Given the description of an element on the screen output the (x, y) to click on. 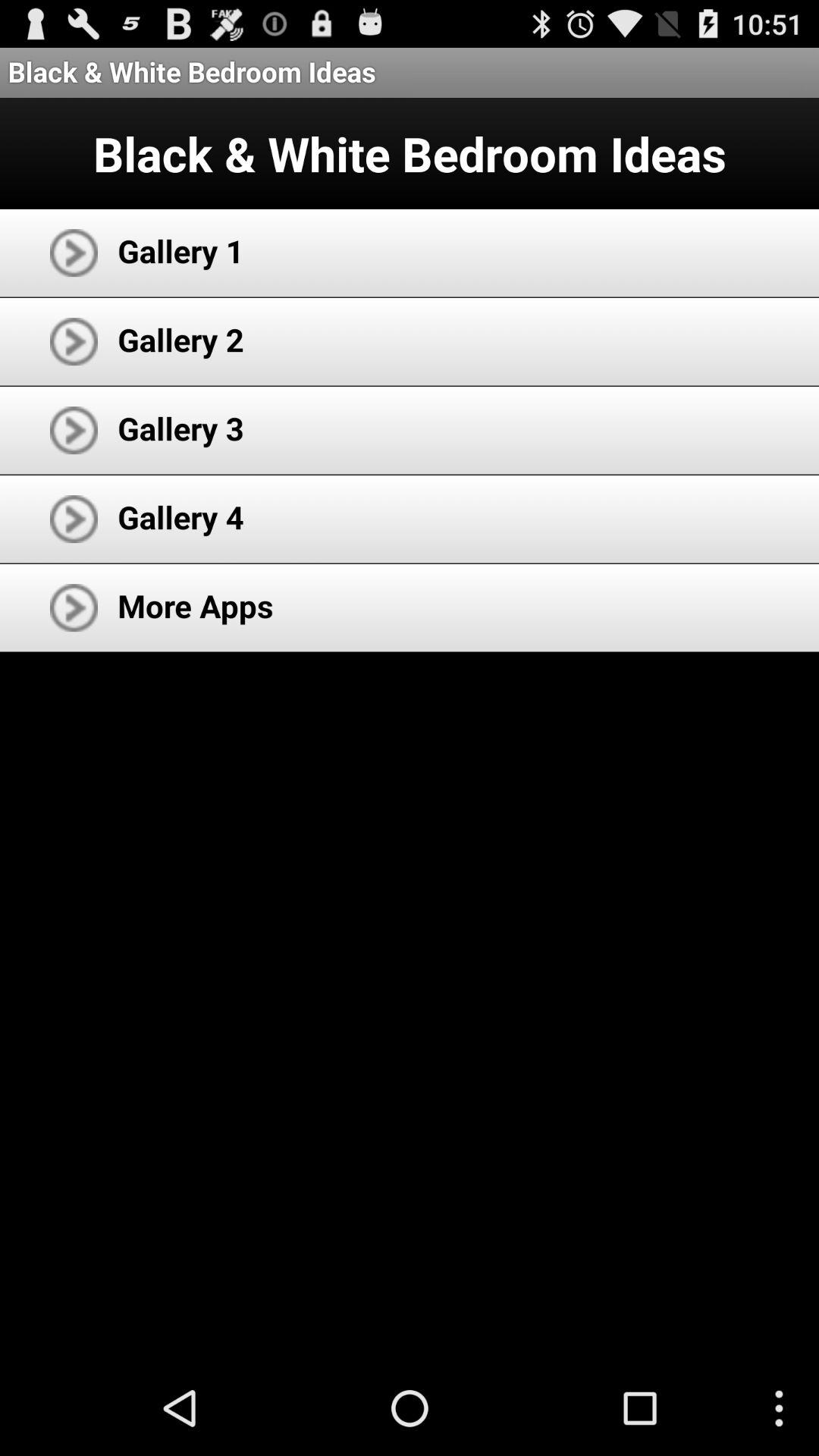
choose more apps app (195, 605)
